Given the description of an element on the screen output the (x, y) to click on. 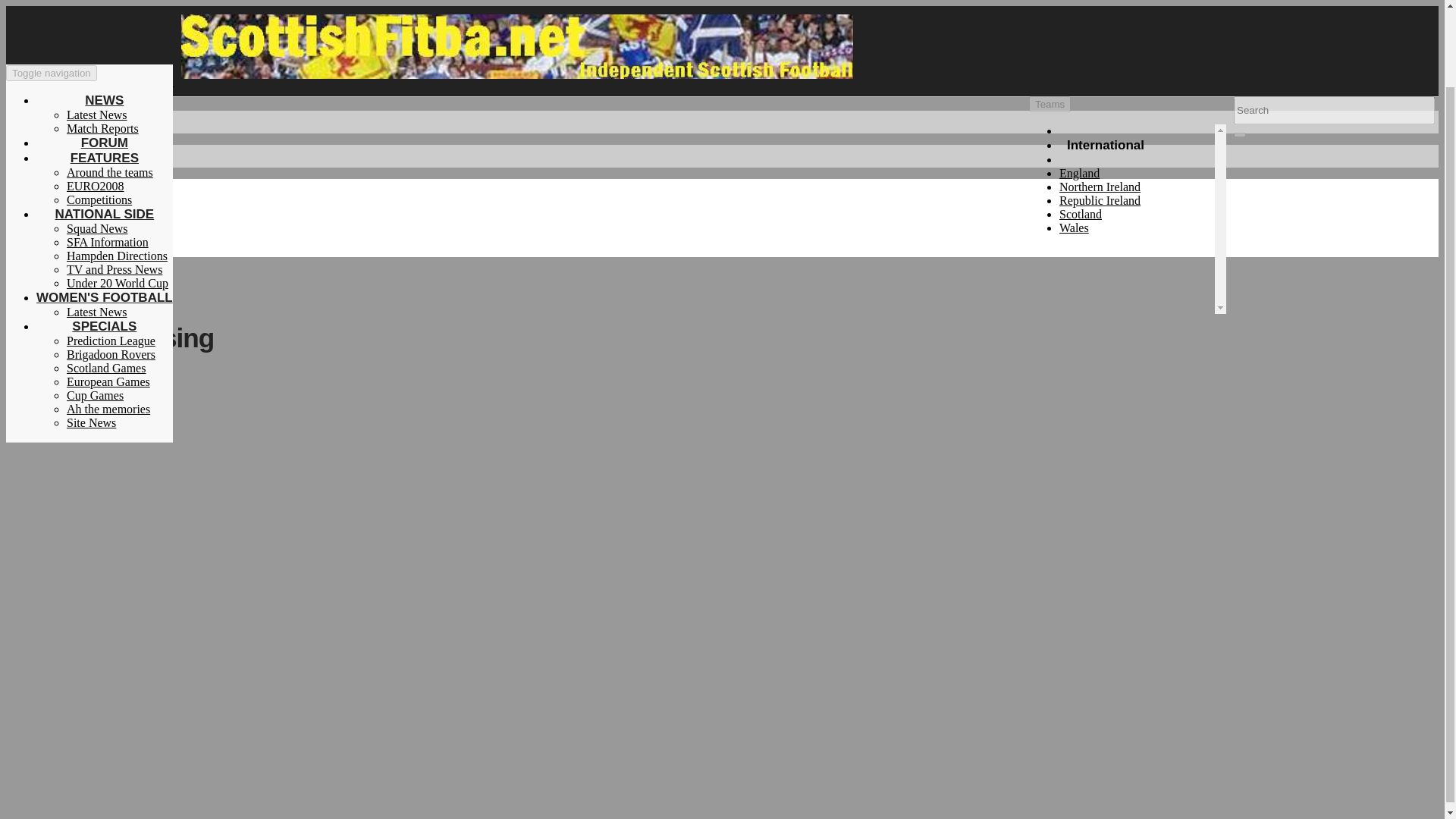
Site News (91, 335)
European Games (107, 294)
Prediction League (110, 253)
Teams (1049, 104)
Ah the memories (107, 321)
Squad News (97, 141)
FEATURES (103, 70)
SPECIALS (103, 238)
Brigadoon Rovers (110, 267)
Prediction League (110, 253)
